Given the description of an element on the screen output the (x, y) to click on. 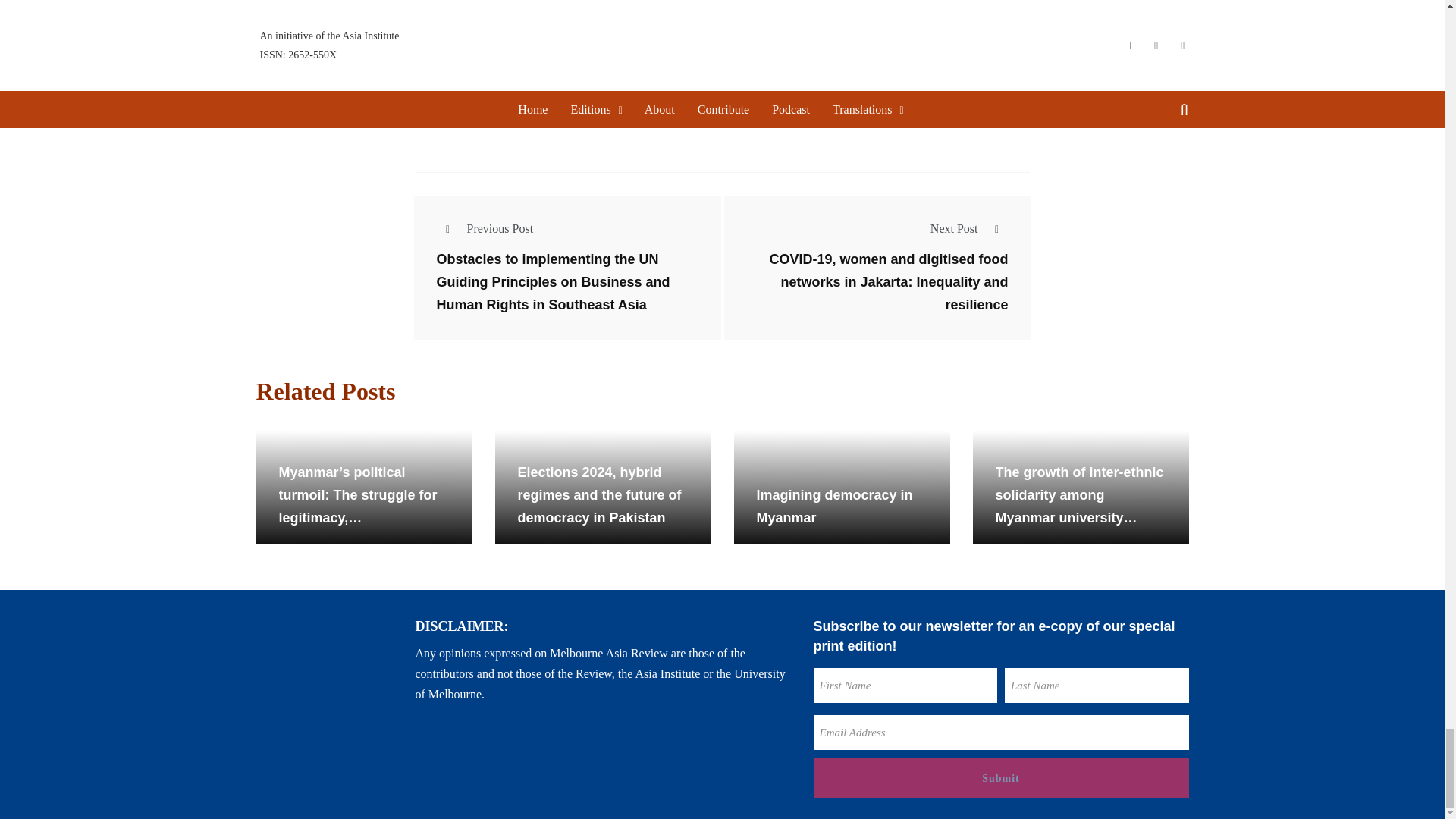
Imagining democracy in Myanmar (841, 487)
Submit (1000, 777)
